Given the description of an element on the screen output the (x, y) to click on. 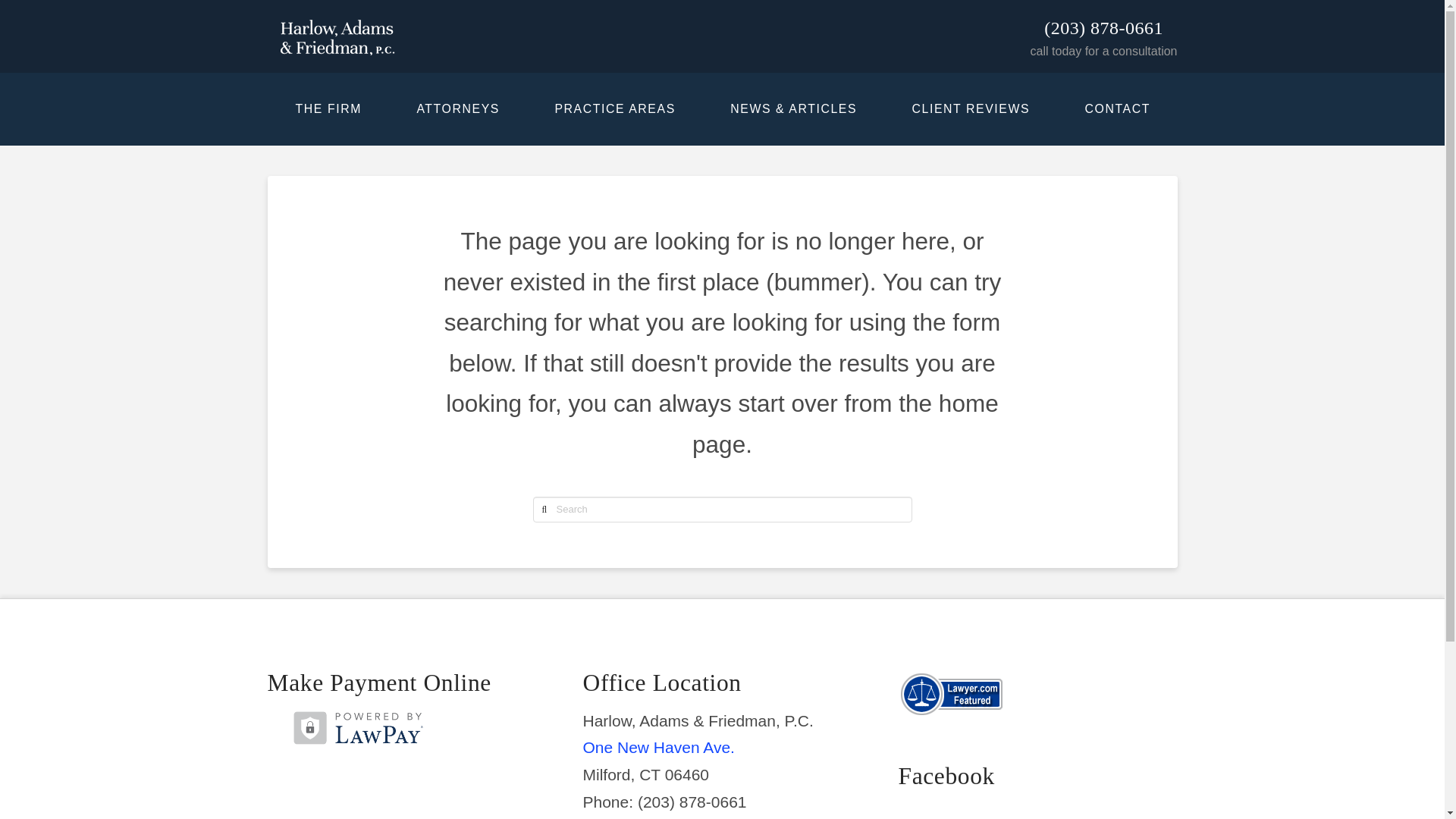
CLIENT REVIEWS (970, 108)
One New Haven Ave. (657, 746)
CONTACT (1116, 108)
PRACTICE AREAS (614, 108)
THE FIRM (327, 108)
ATTORNEYS (456, 108)
